Given the description of an element on the screen output the (x, y) to click on. 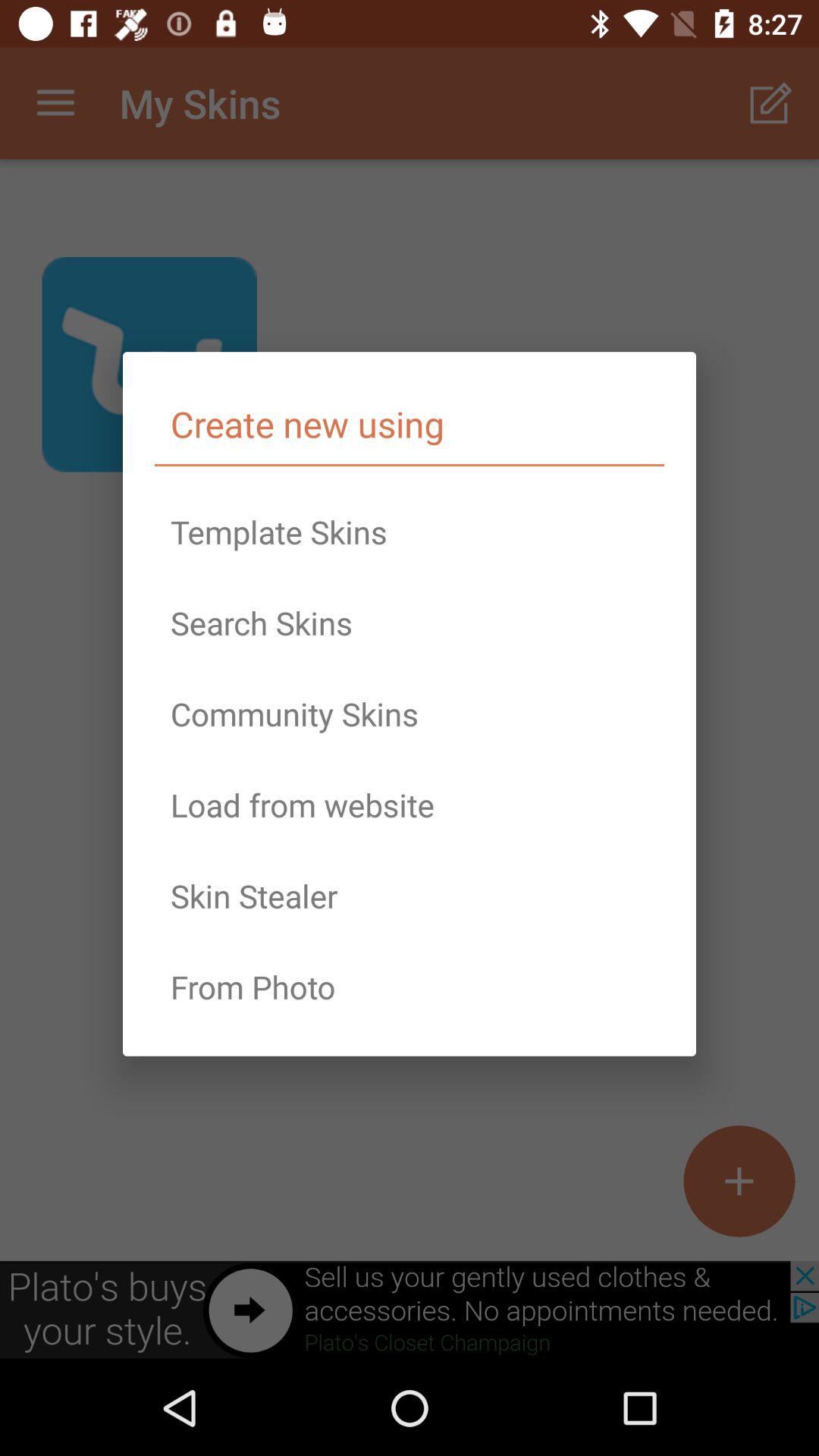
click the from photo (409, 986)
